Given the description of an element on the screen output the (x, y) to click on. 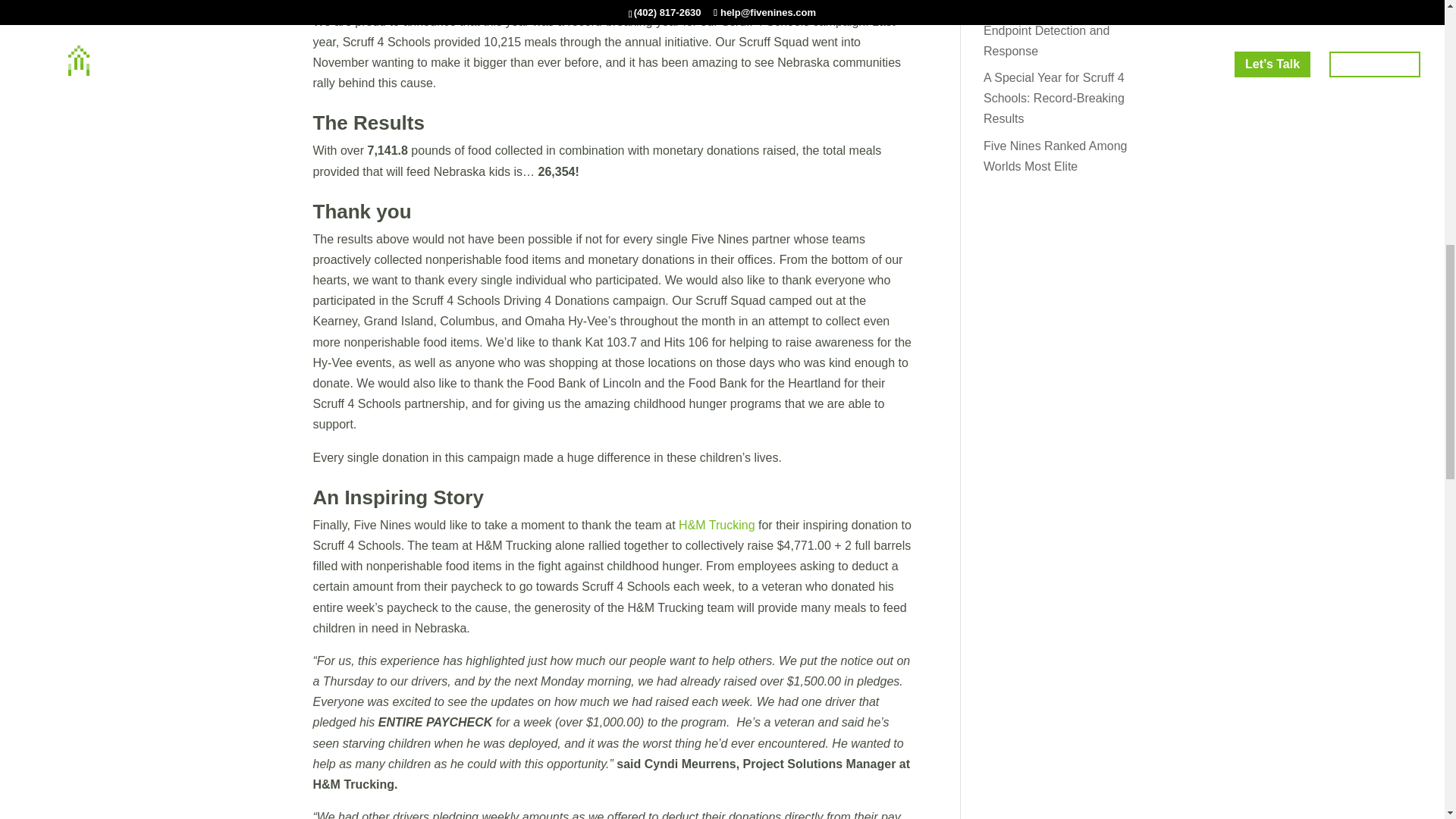
Five Nines named to MSP 500 List for Tenth Consecutive Year (1054, 4)
Five Nines Ranked Among Worlds Most Elite (1055, 155)
Endpoint Detection and Response (1046, 40)
A Special Year for Scruff 4 Schools: Record-Breaking Results (1054, 98)
